Given the description of an element on the screen output the (x, y) to click on. 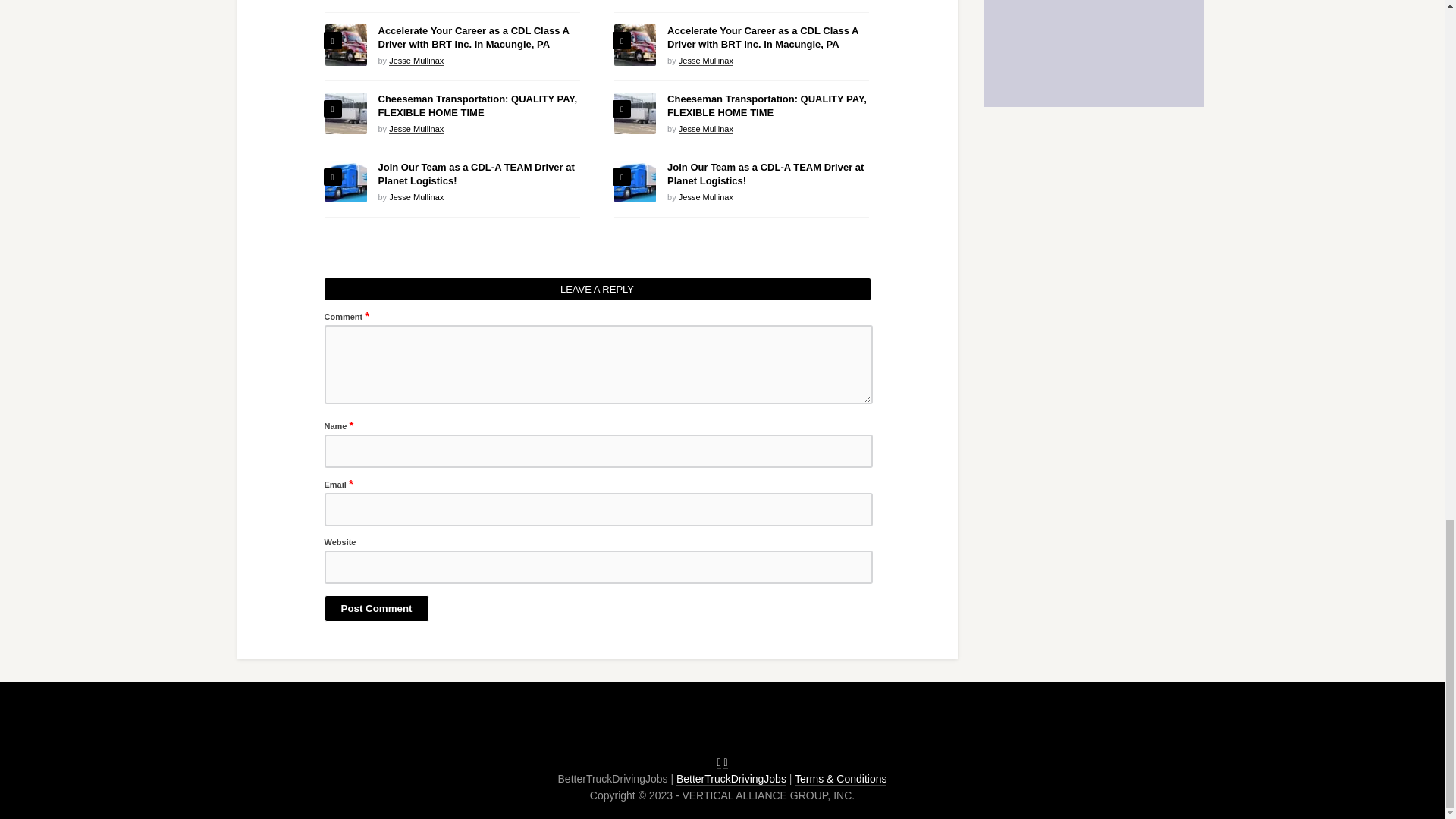
Post Comment (376, 608)
Cheeseman Transportation: QUALITY PAY, FLEXIBLE HOME TIME 4 (345, 113)
Posts by Jesse Mullinax (416, 61)
Join Our Team as a CDL-A TEAM Driver at Planet Logistics! 5 (345, 181)
Posts by Jesse Mullinax (416, 129)
Posts by Jesse Mullinax (416, 197)
